Given the description of an element on the screen output the (x, y) to click on. 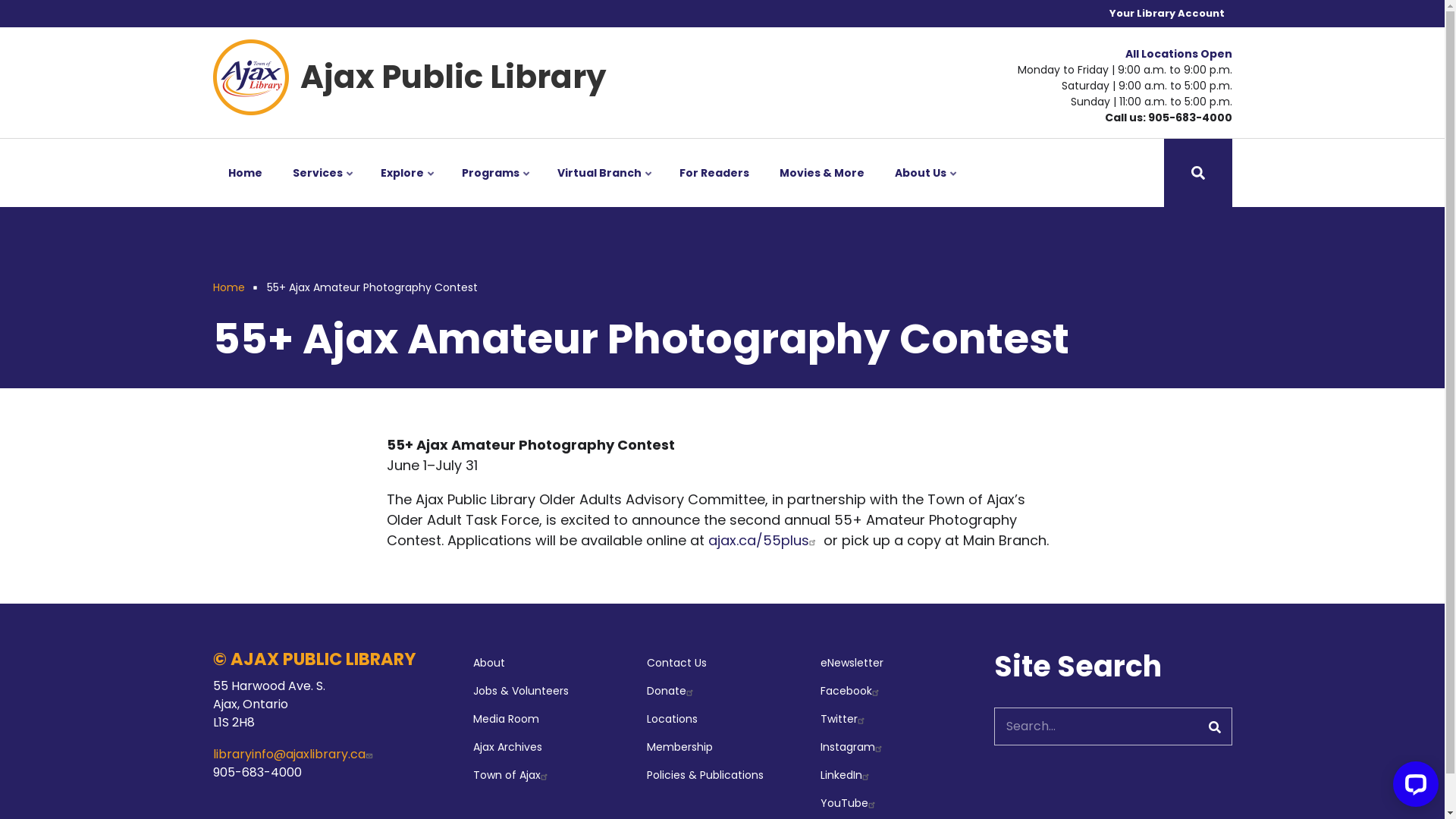
Media Room Element type: text (548, 719)
Contact Us Element type: text (721, 663)
Ajax Archives Element type: text (548, 747)
About Element type: text (548, 663)
All Locations Open Element type: text (1178, 53)
libraryinfo@ajaxlibrary.ca(link sends email) Element type: text (293, 753)
Town of Ajax(link is external) Element type: text (548, 775)
For Readers Element type: text (713, 172)
Home Element type: hover (250, 75)
Your Library Account Element type: text (1166, 13)
ajax.ca/55plus(link is external) Element type: text (763, 539)
Ajax Public Library Element type: text (453, 76)
YouTube(link is external) Element type: text (895, 803)
Locations Element type: text (721, 719)
Instagram(link is external) Element type: text (895, 747)
Movies & More Element type: text (821, 172)
Enter the terms you wish to search for. Element type: hover (1113, 726)
Home Element type: text (228, 286)
Policies & Publications Element type: text (721, 775)
Skip to main content Element type: text (0, 0)
Jobs & Volunteers Element type: text (548, 691)
Membership Element type: text (721, 747)
Search Element type: text (1216, 726)
Twitter(link is external) Element type: text (895, 719)
Home Element type: text (244, 172)
eNewsletter Element type: text (895, 663)
Facebook(link is external) Element type: text (895, 691)
Donate(link is external) Element type: text (721, 691)
LinkedIn(link is external) Element type: text (895, 775)
